Given the description of an element on the screen output the (x, y) to click on. 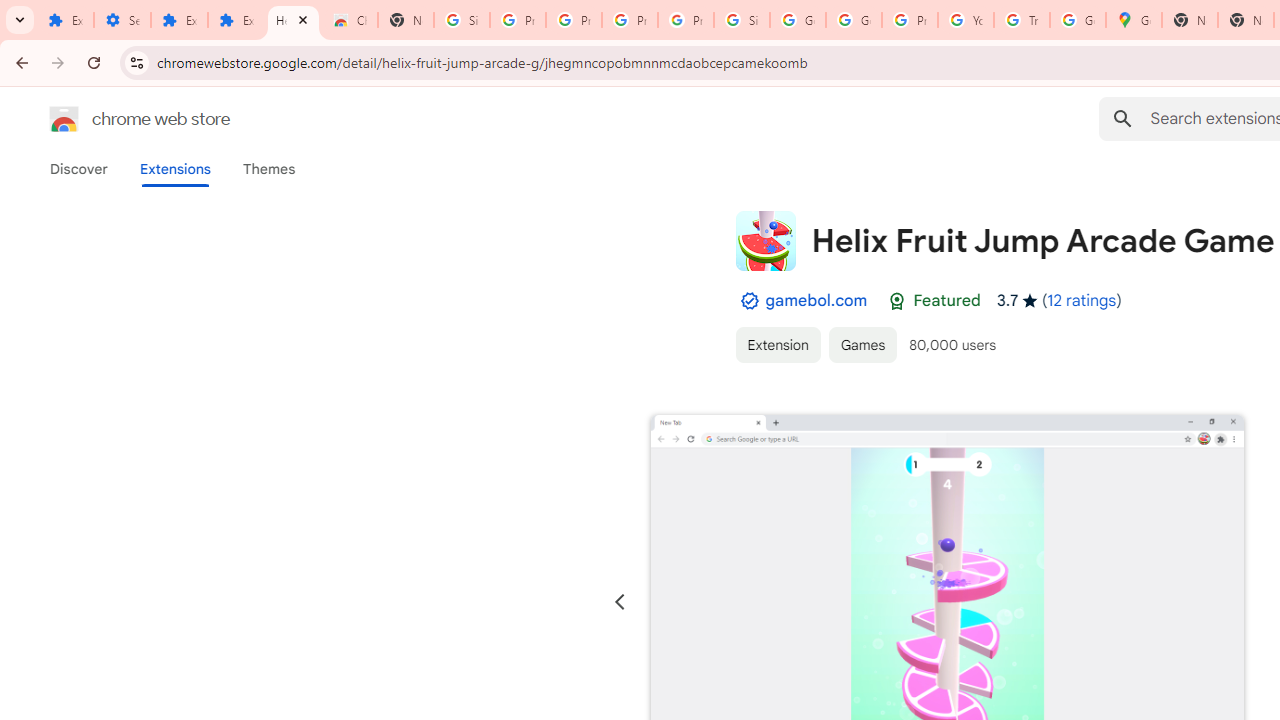
Extensions (65, 20)
Games (863, 344)
Chrome Web Store - Themes (349, 20)
Helix Fruit Jump Arcade Game - Chrome Web Store (293, 20)
New Tab (1190, 20)
Extension (777, 344)
